Given the description of an element on the screen output the (x, y) to click on. 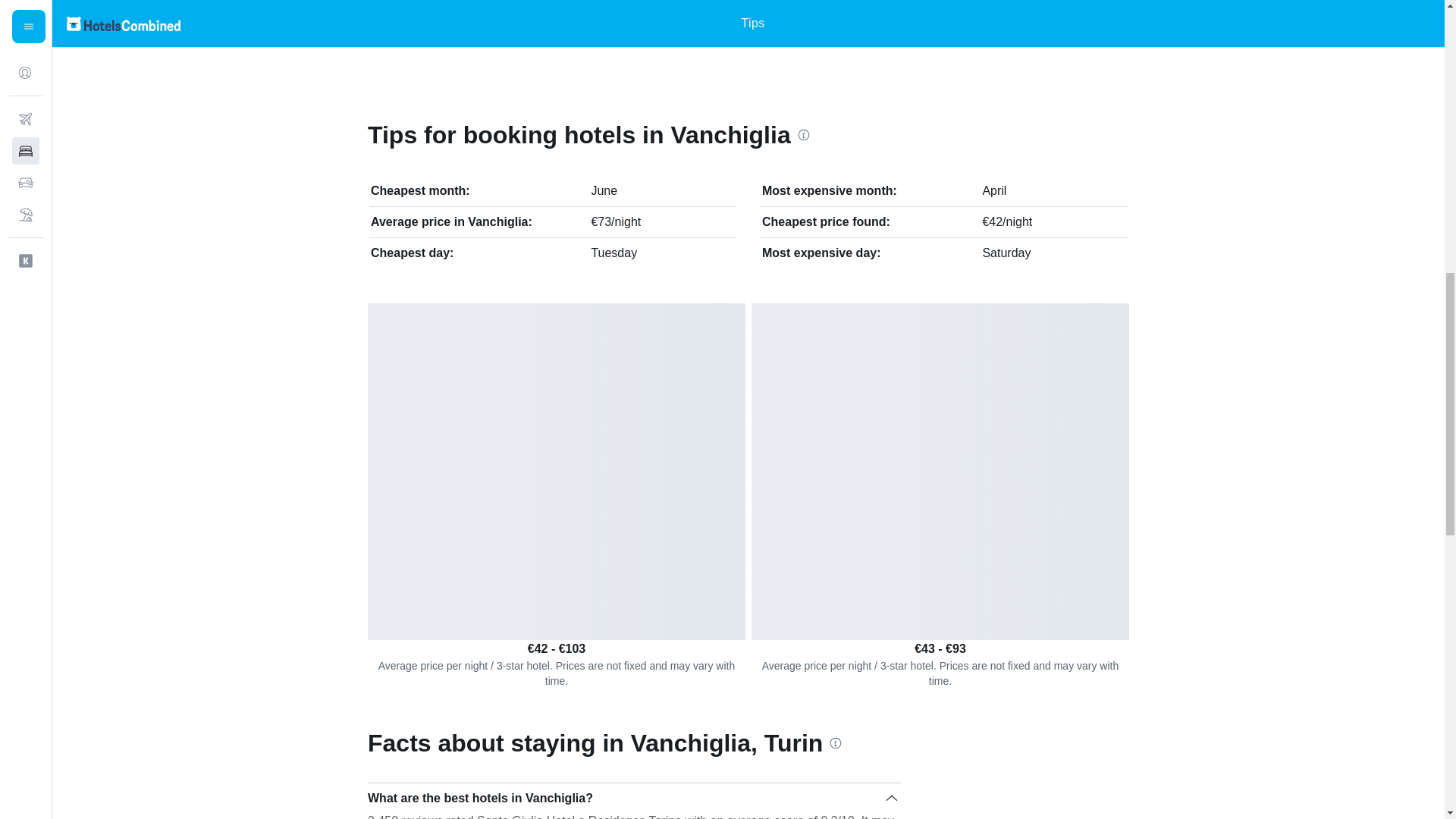
Piedmont Hotels (535, 22)
Italy Hotels (426, 22)
Turin Hotels (641, 22)
Saturday (1005, 252)
April (993, 190)
Home (373, 22)
Tuesday (614, 252)
June (604, 190)
